Given the description of an element on the screen output the (x, y) to click on. 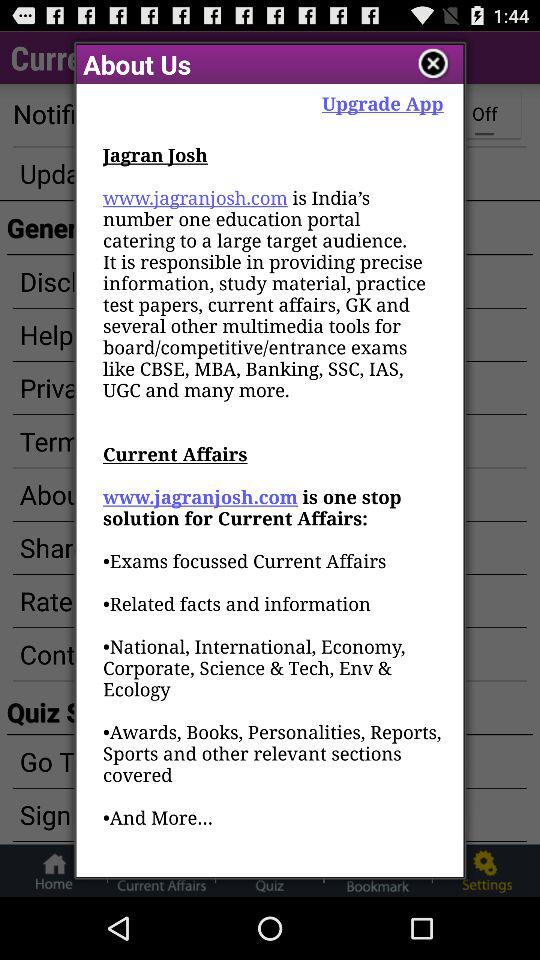
close the page (433, 63)
